Given the description of an element on the screen output the (x, y) to click on. 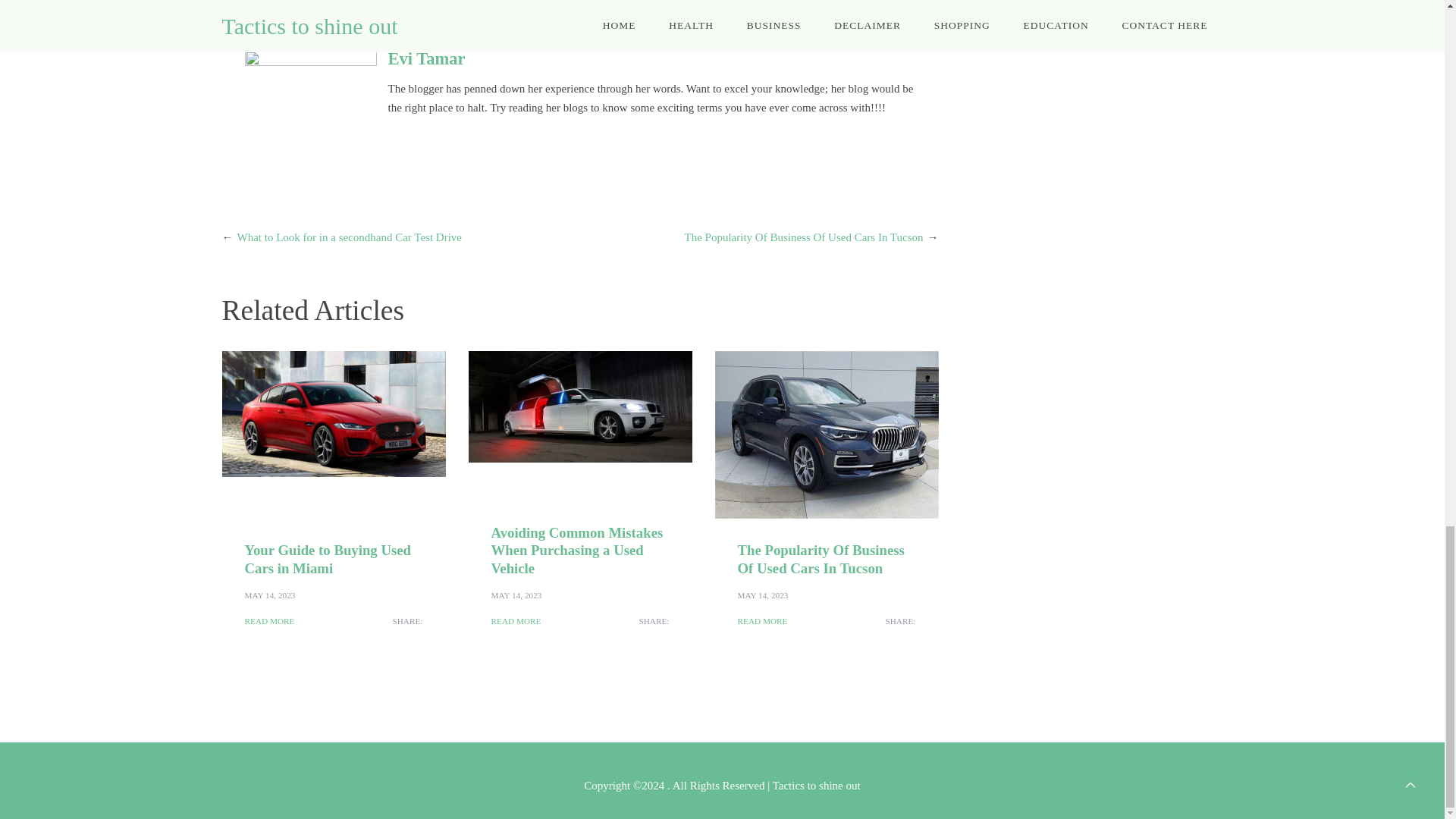
READ MORE (516, 621)
What to Look for in a secondhand Car Test Drive (348, 236)
The Popularity Of Business Of Used Cars In Tucson (803, 236)
The Popularity Of Business Of Used Cars In Tucson (820, 558)
Your Guide to Buying Used Cars in Miami (327, 558)
MAY 14, 2023 (269, 595)
READ MORE (269, 621)
READ MORE (761, 621)
MAY 14, 2023 (516, 595)
MAY 14, 2023 (761, 595)
Avoiding Common Mistakes When Purchasing a Used Vehicle (577, 550)
Evi Tamar (426, 58)
